Given the description of an element on the screen output the (x, y) to click on. 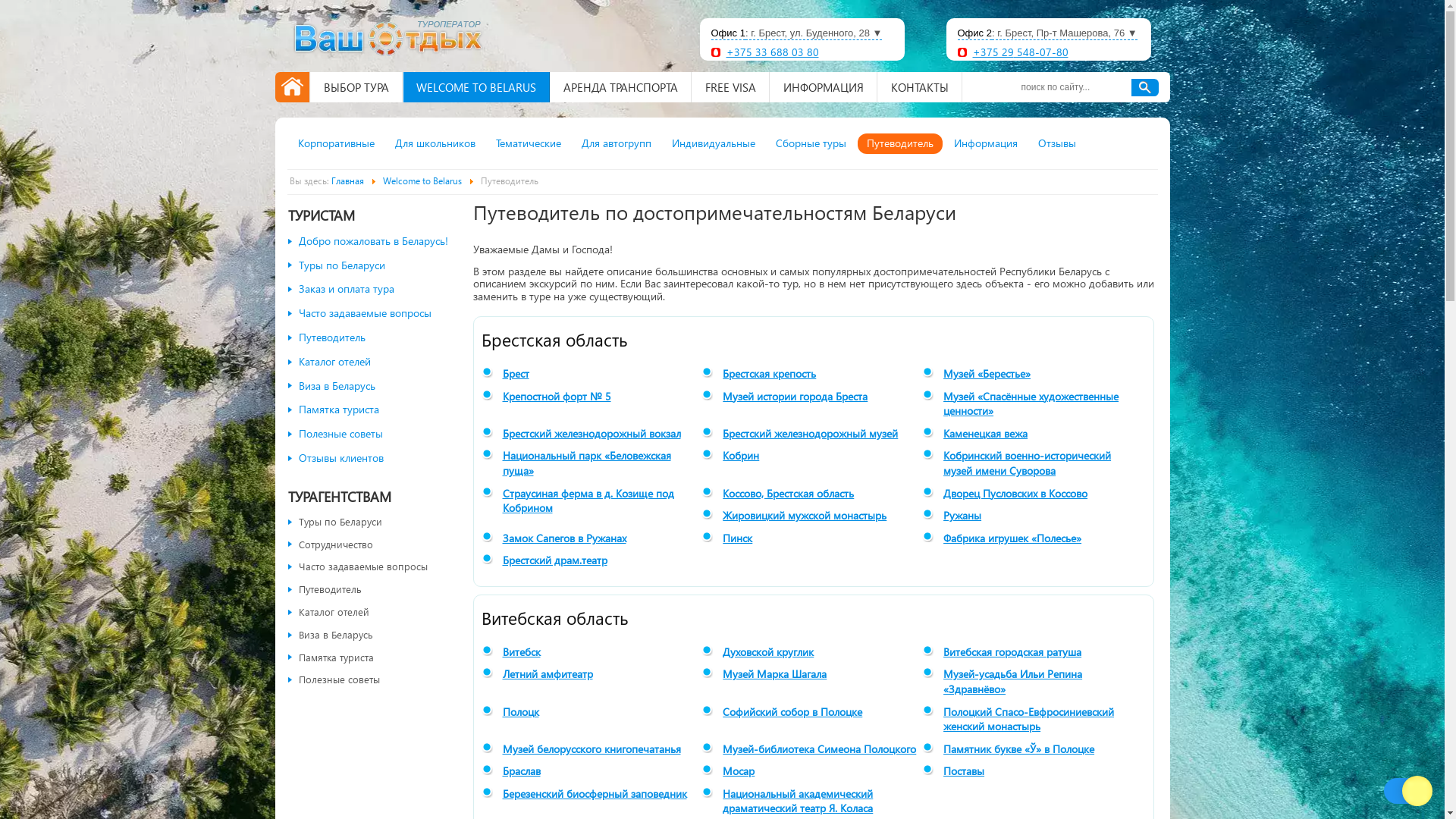
Welcome to Belarus Element type: text (421, 180)
  Element type: text (1144, 87)
+375 29 548-07-80 Element type: text (1019, 51)
+375 33 688 03 80 Element type: text (772, 51)
WELCOME TO BELARUS Element type: text (475, 87)
FREE VISA Element type: text (730, 87)
